Given the description of an element on the screen output the (x, y) to click on. 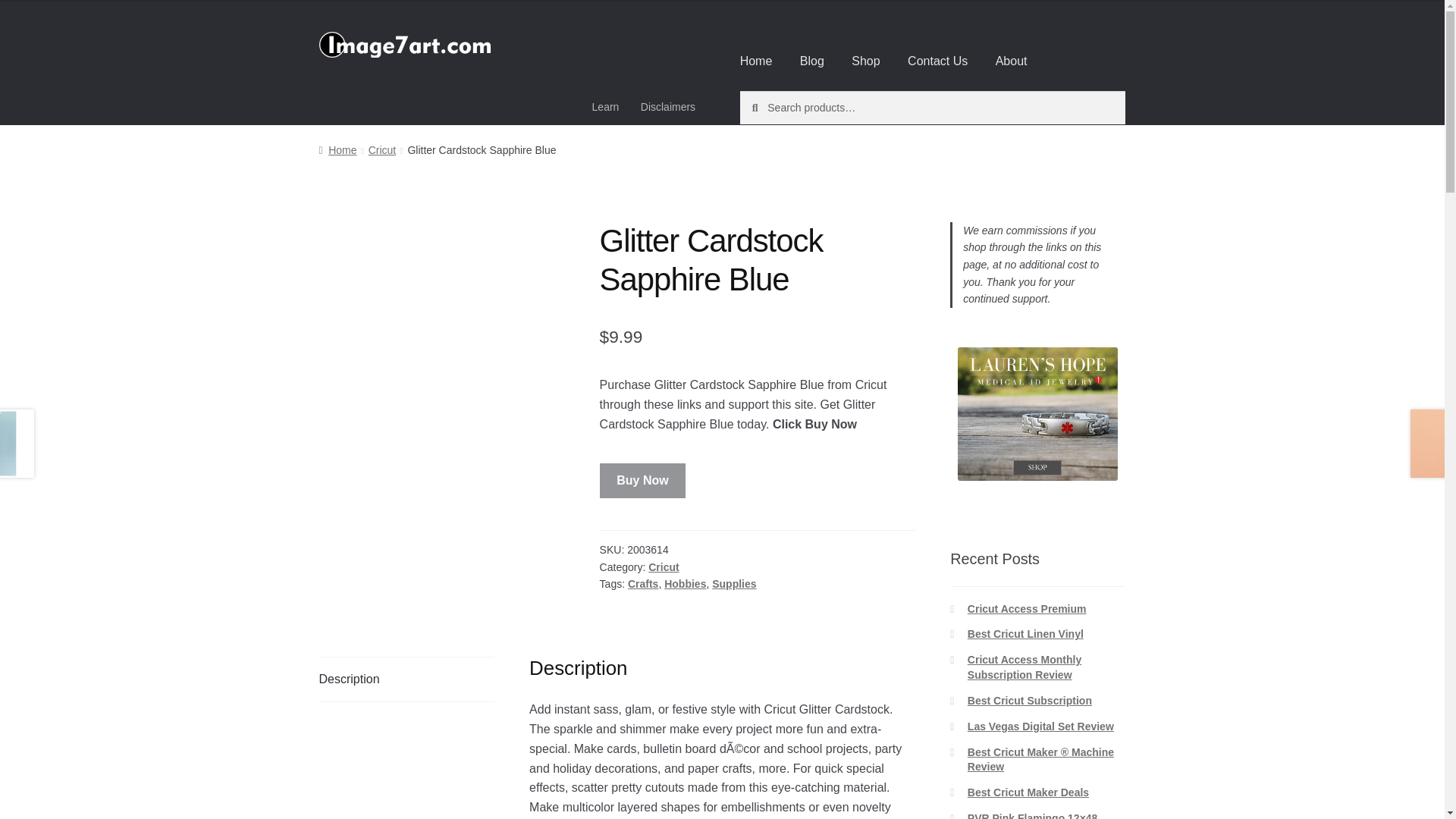
Hobbies (684, 583)
About (1011, 60)
Disclaimers (667, 106)
Home (337, 150)
Cricut (382, 150)
Learn (604, 106)
Buy Now (642, 480)
Contact Us (937, 60)
Cricut (662, 567)
Home (756, 60)
Crafts (642, 583)
